Given the description of an element on the screen output the (x, y) to click on. 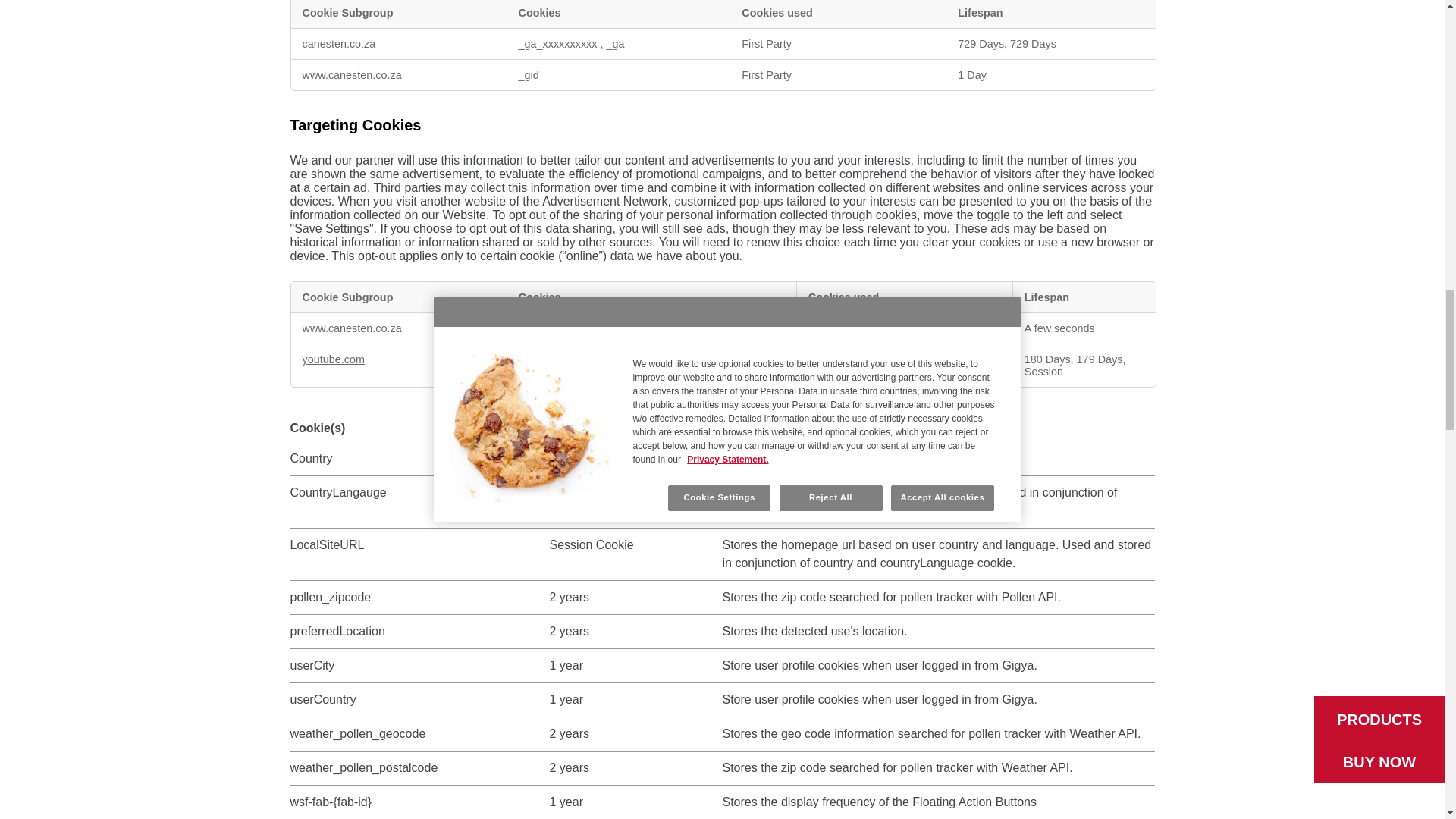
youtube.com (332, 358)
